Given the description of an element on the screen output the (x, y) to click on. 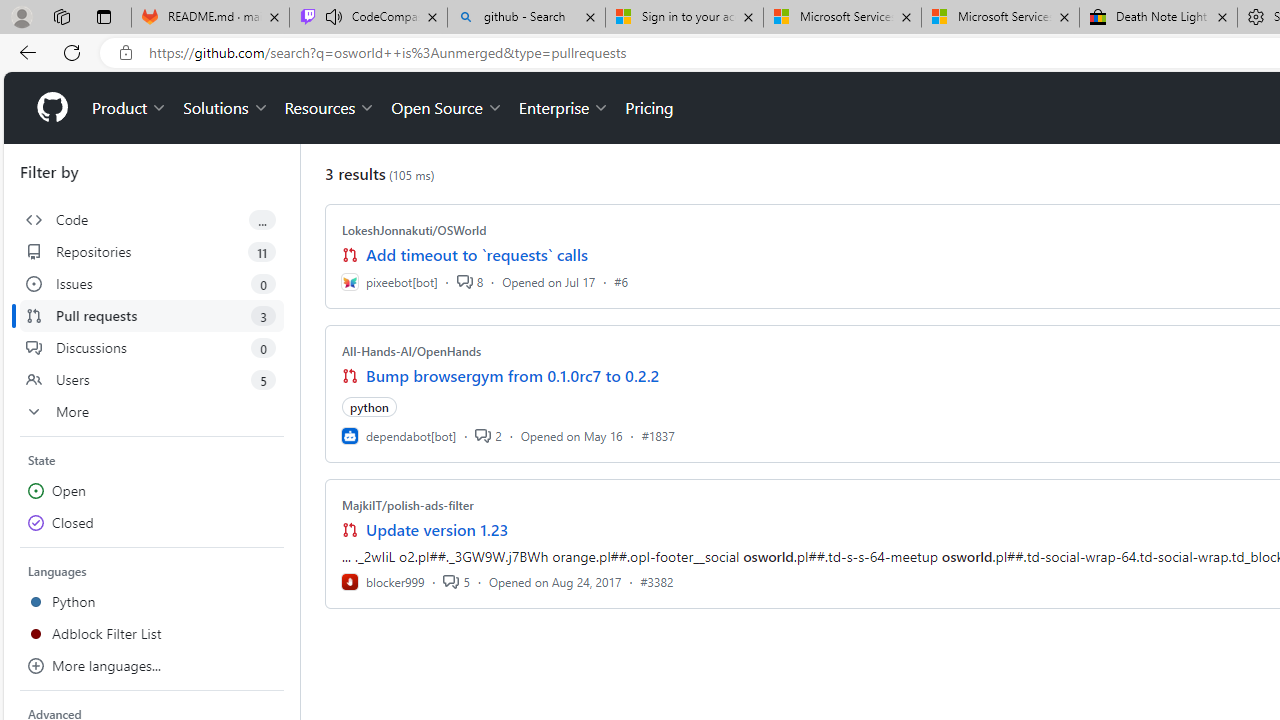
5 (455, 581)
Product (130, 107)
#6 (621, 281)
MajkiIT/polish-ads-filter (407, 505)
#3382 (657, 581)
2 (487, 435)
